Given the description of an element on the screen output the (x, y) to click on. 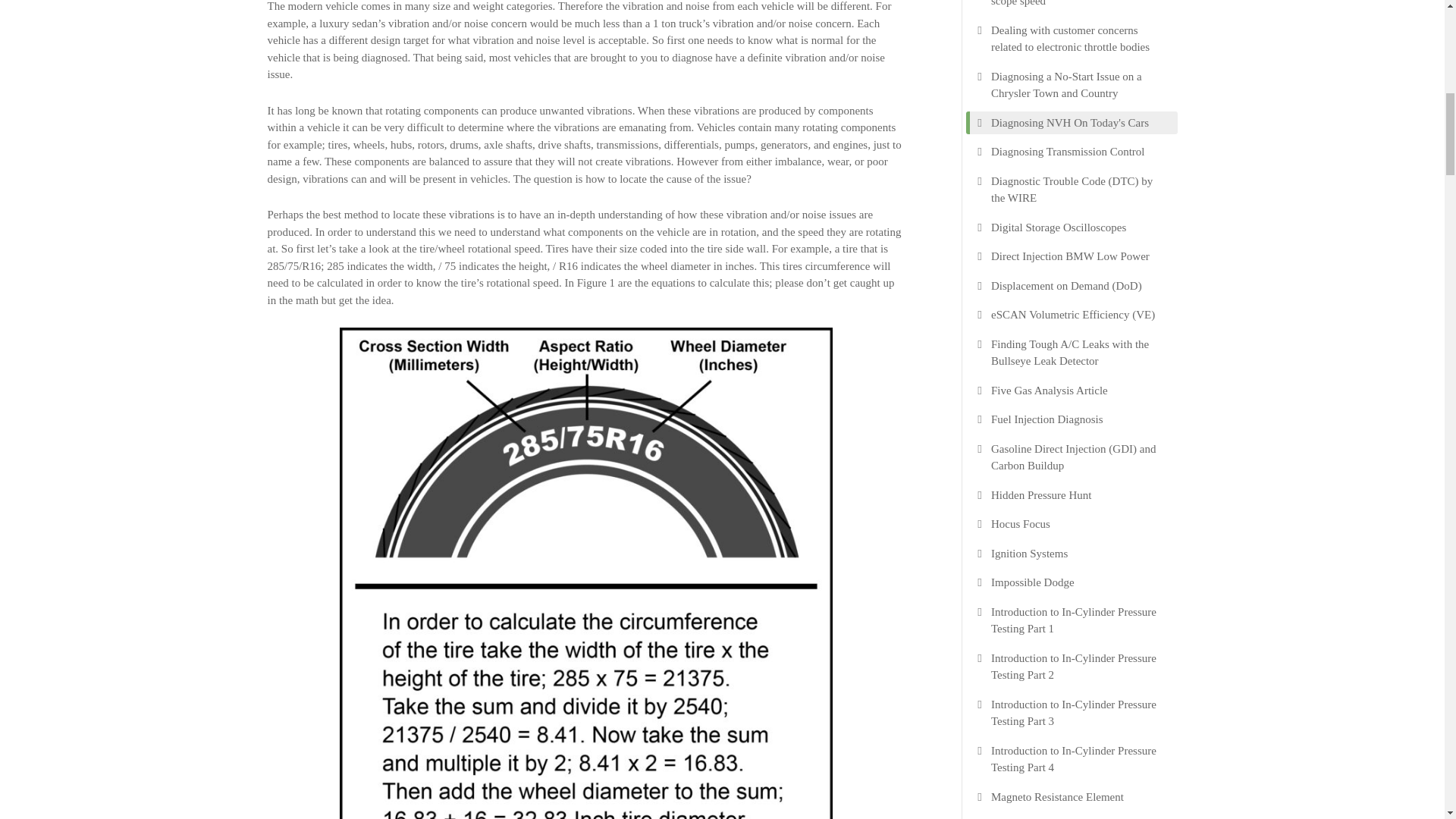
Diagnosing Transmission Control (1067, 151)
Common questions asked about scope speed (1077, 4)
Digital Storage Oscilloscopes (1058, 226)
Diagnosing a No-Start Issue on a Chrysler Town and Country (1077, 84)
Diagnosing NVH On Today's Cars (1069, 122)
